Given the description of an element on the screen output the (x, y) to click on. 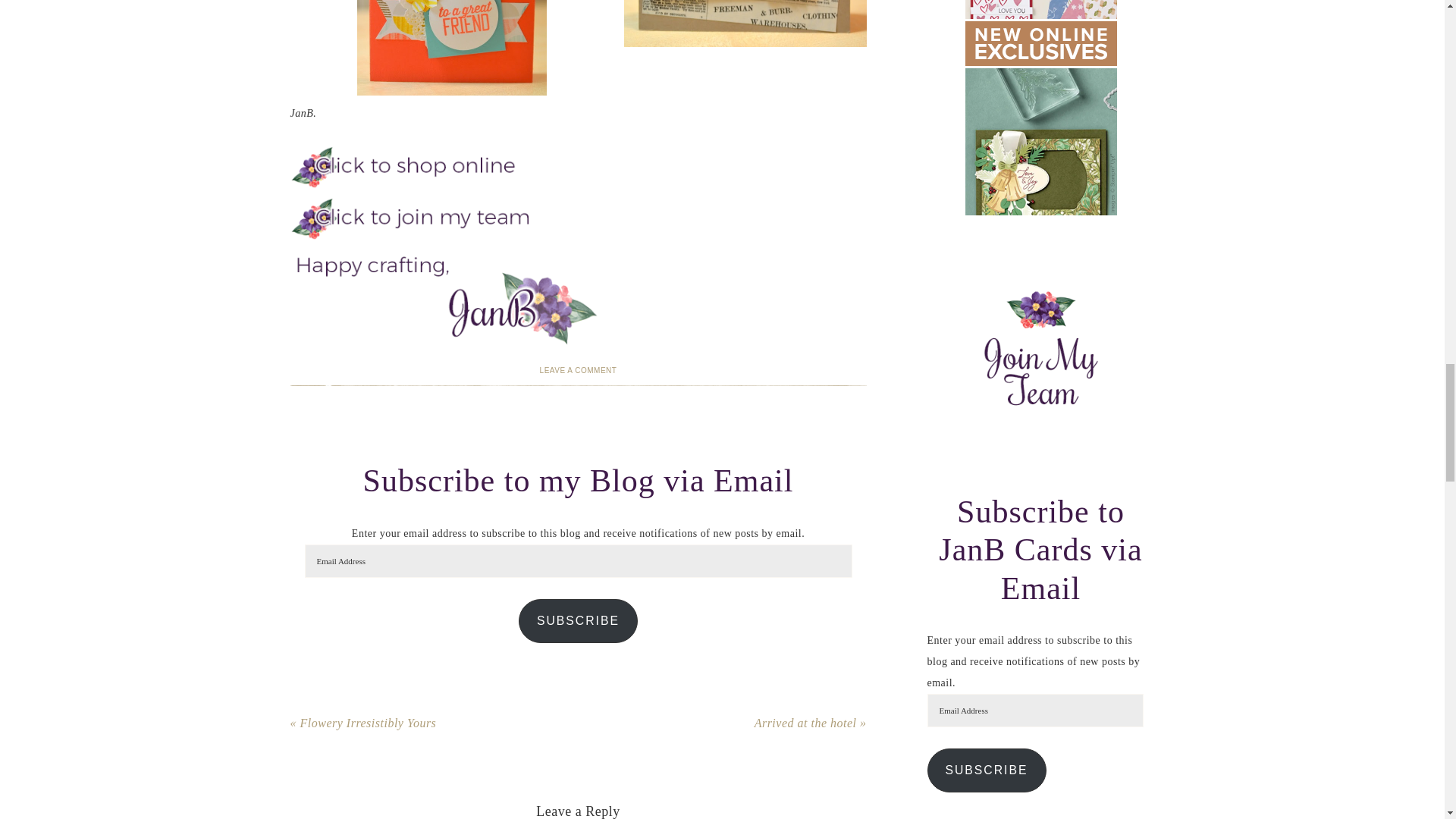
LEAVE A COMMENT (578, 370)
SUBSCRIBE (577, 620)
